Given the description of an element on the screen output the (x, y) to click on. 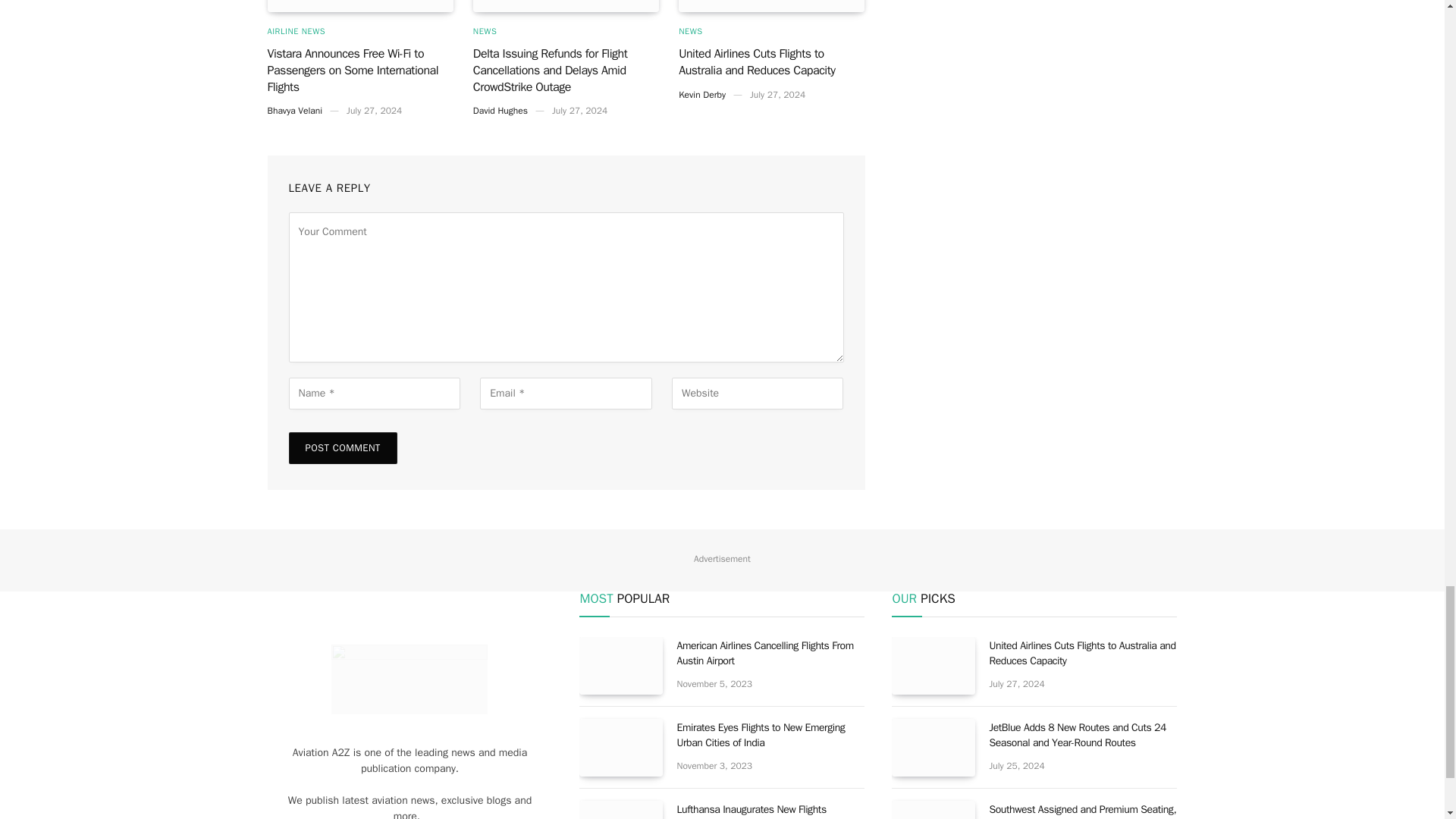
Post Comment (342, 448)
